Given the description of an element on the screen output the (x, y) to click on. 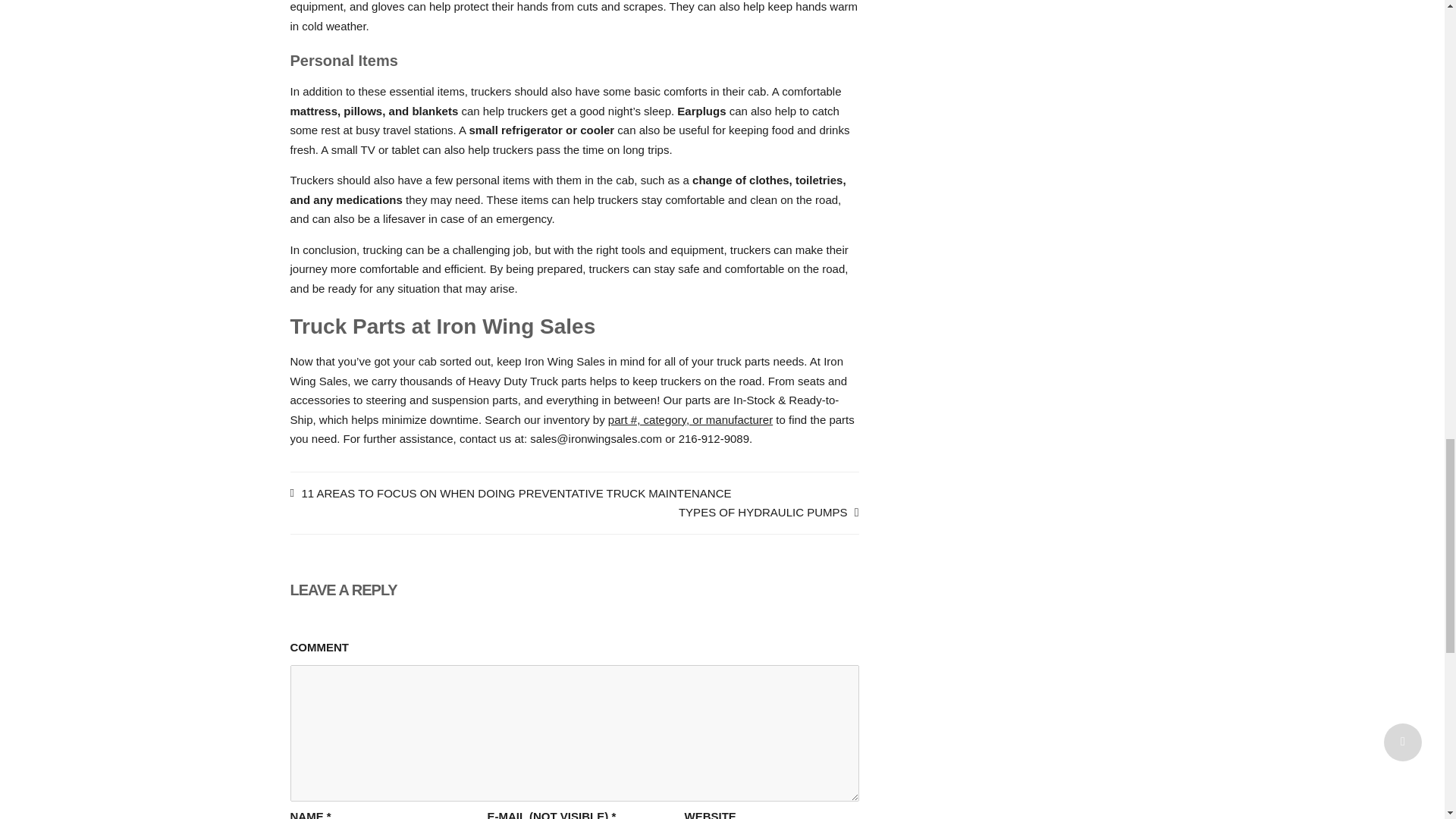
TYPES OF HYDRAULIC PUMPS (768, 512)
